Given the description of an element on the screen output the (x, y) to click on. 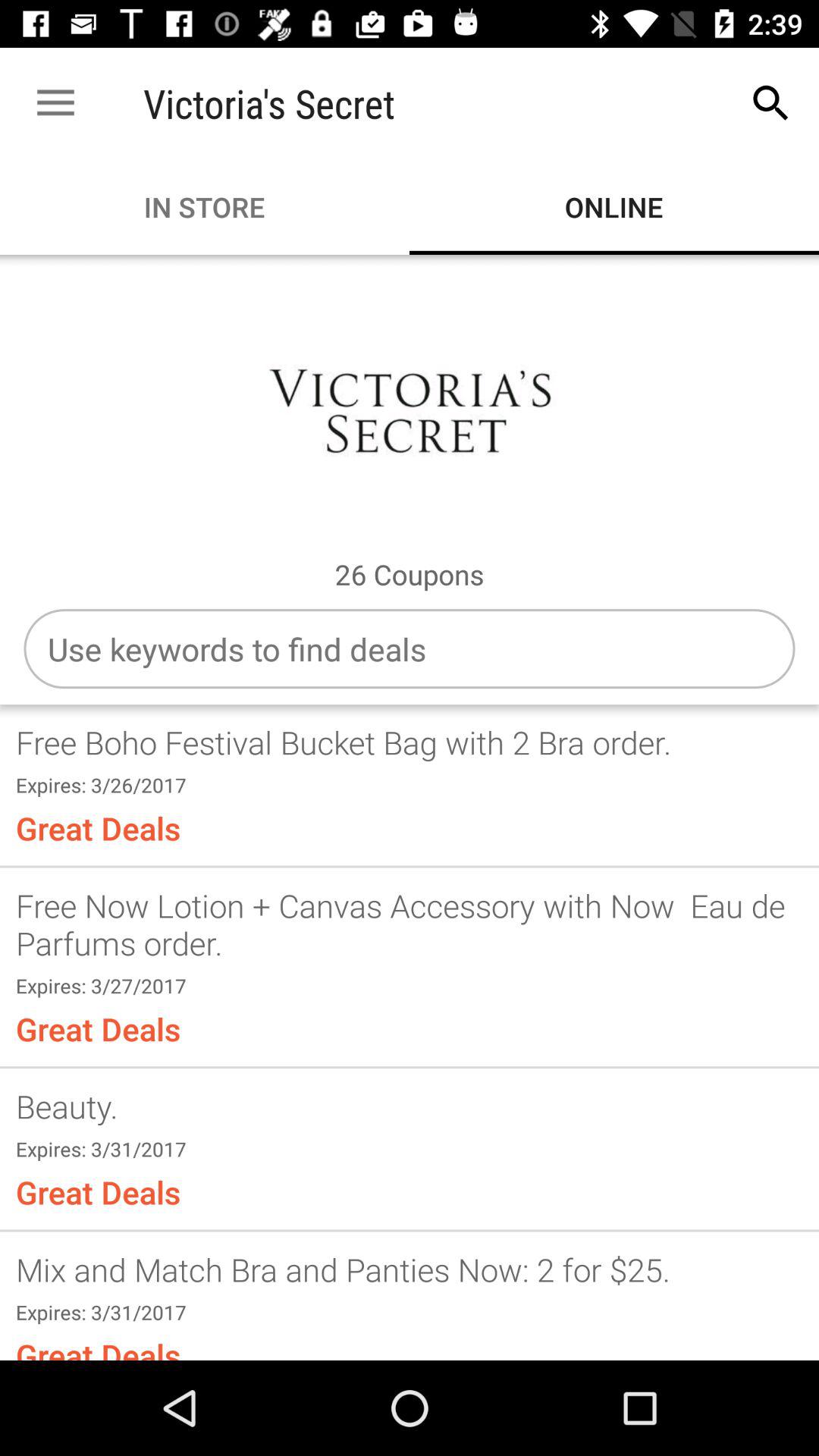
click the item below 26 coupons (409, 648)
